Given the description of an element on the screen output the (x, y) to click on. 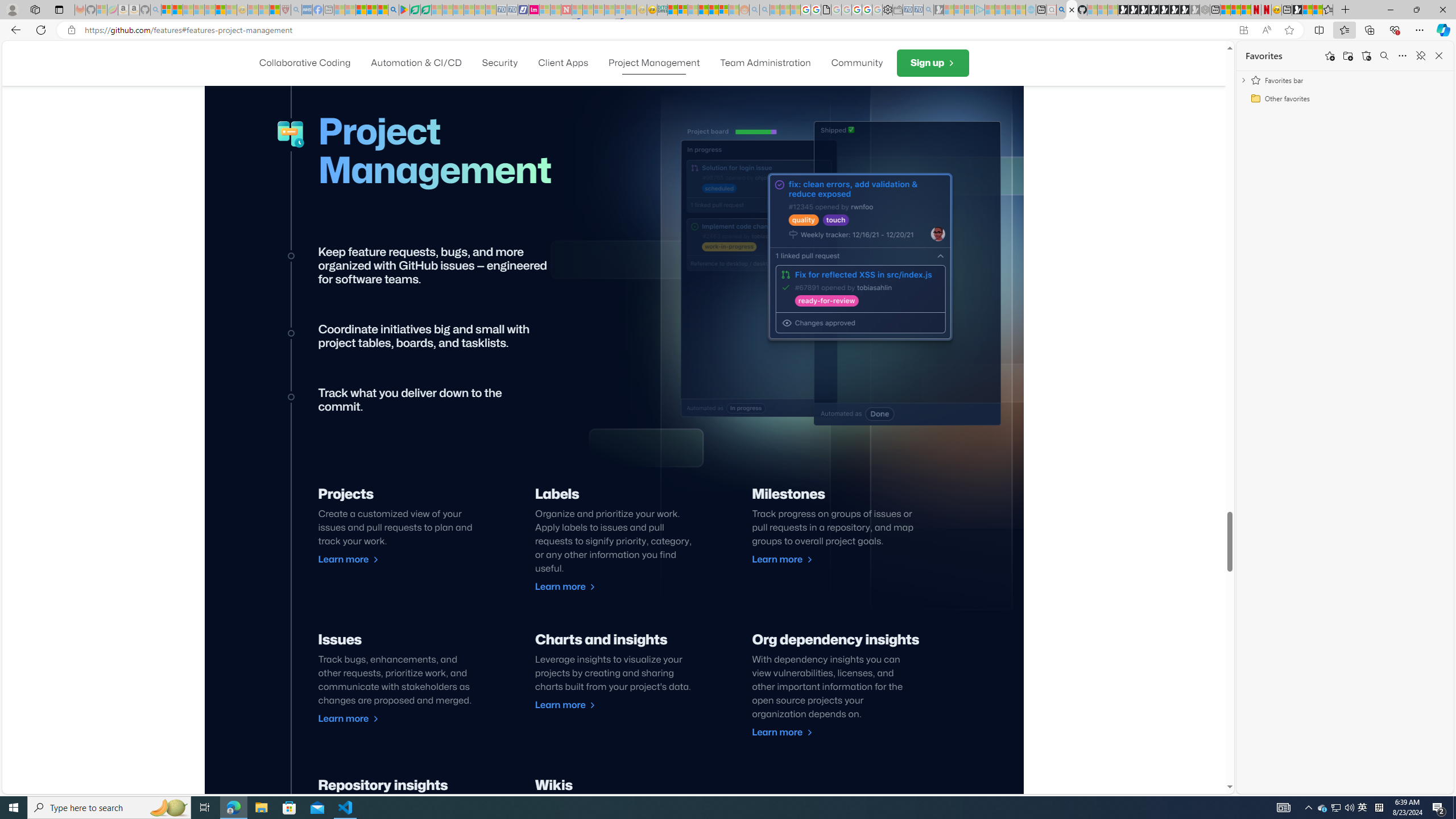
Add folder (1347, 55)
Local - MSN (274, 9)
